Given the description of an element on the screen output the (x, y) to click on. 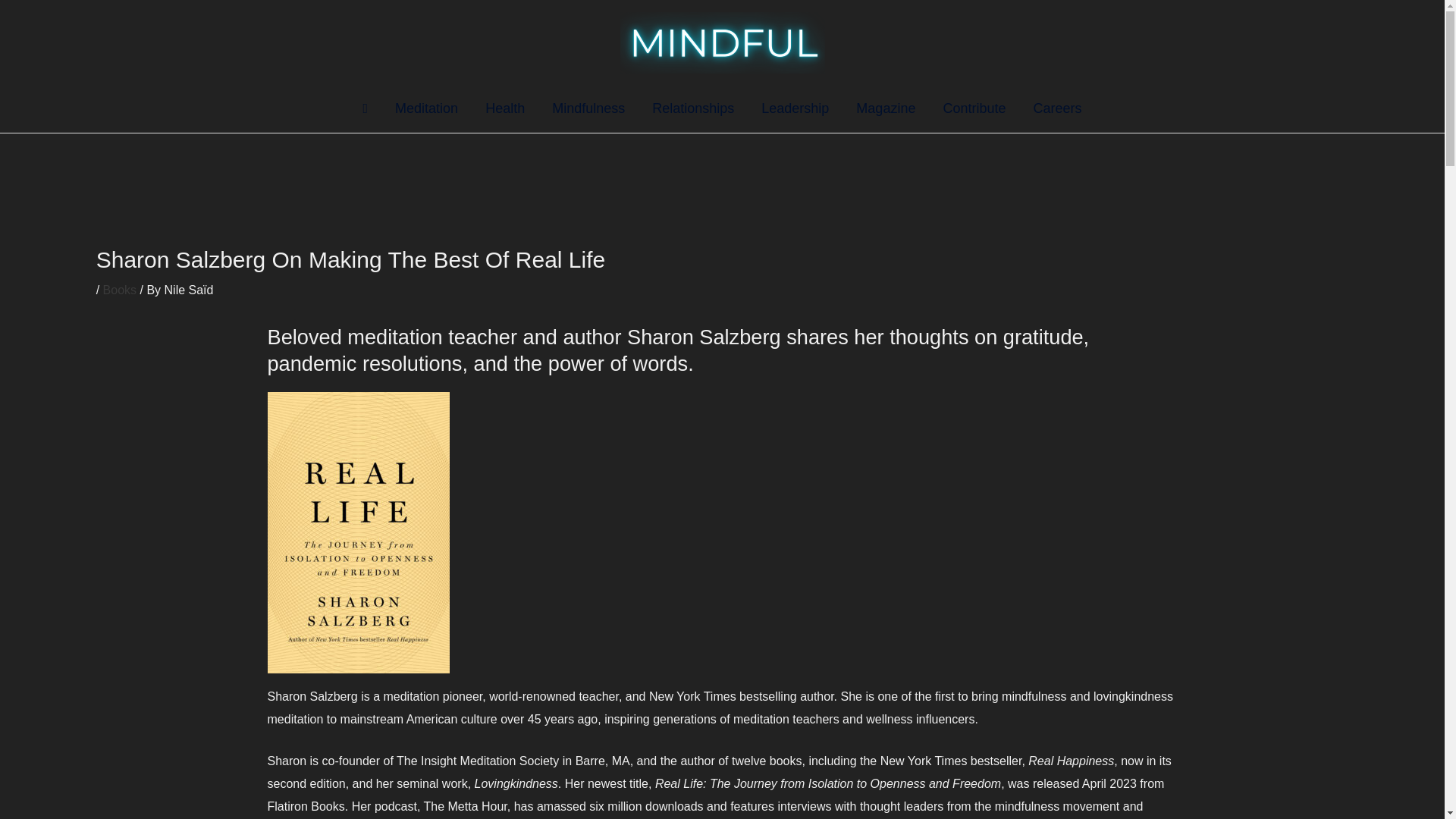
Books (119, 289)
